Given the description of an element on the screen output the (x, y) to click on. 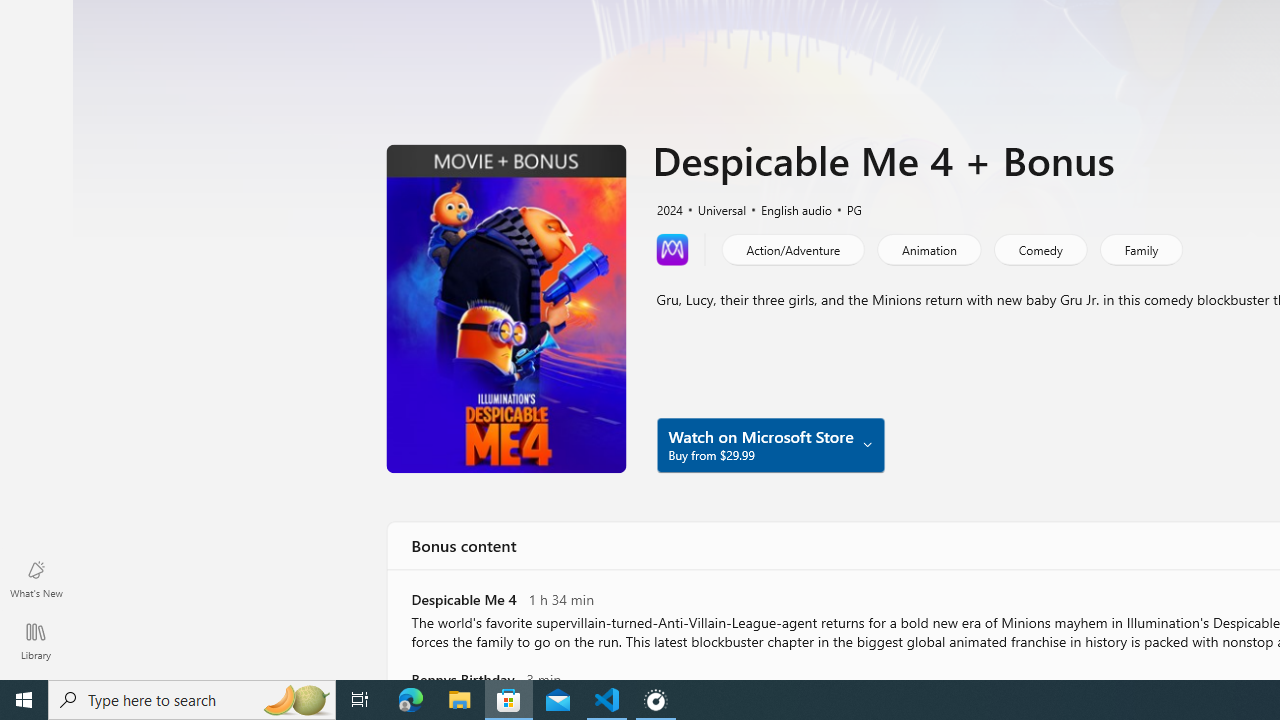
Universal (713, 208)
2024 (667, 208)
Family (1140, 248)
Library (35, 640)
Animation (928, 248)
Watch on Microsoft Store Buy from $29.99 (769, 444)
English audio (786, 208)
Action/Adventure (792, 248)
Learn more about Movies Anywhere (671, 248)
Comedy (1039, 248)
PG (845, 208)
What's New (35, 578)
